Given the description of an element on the screen output the (x, y) to click on. 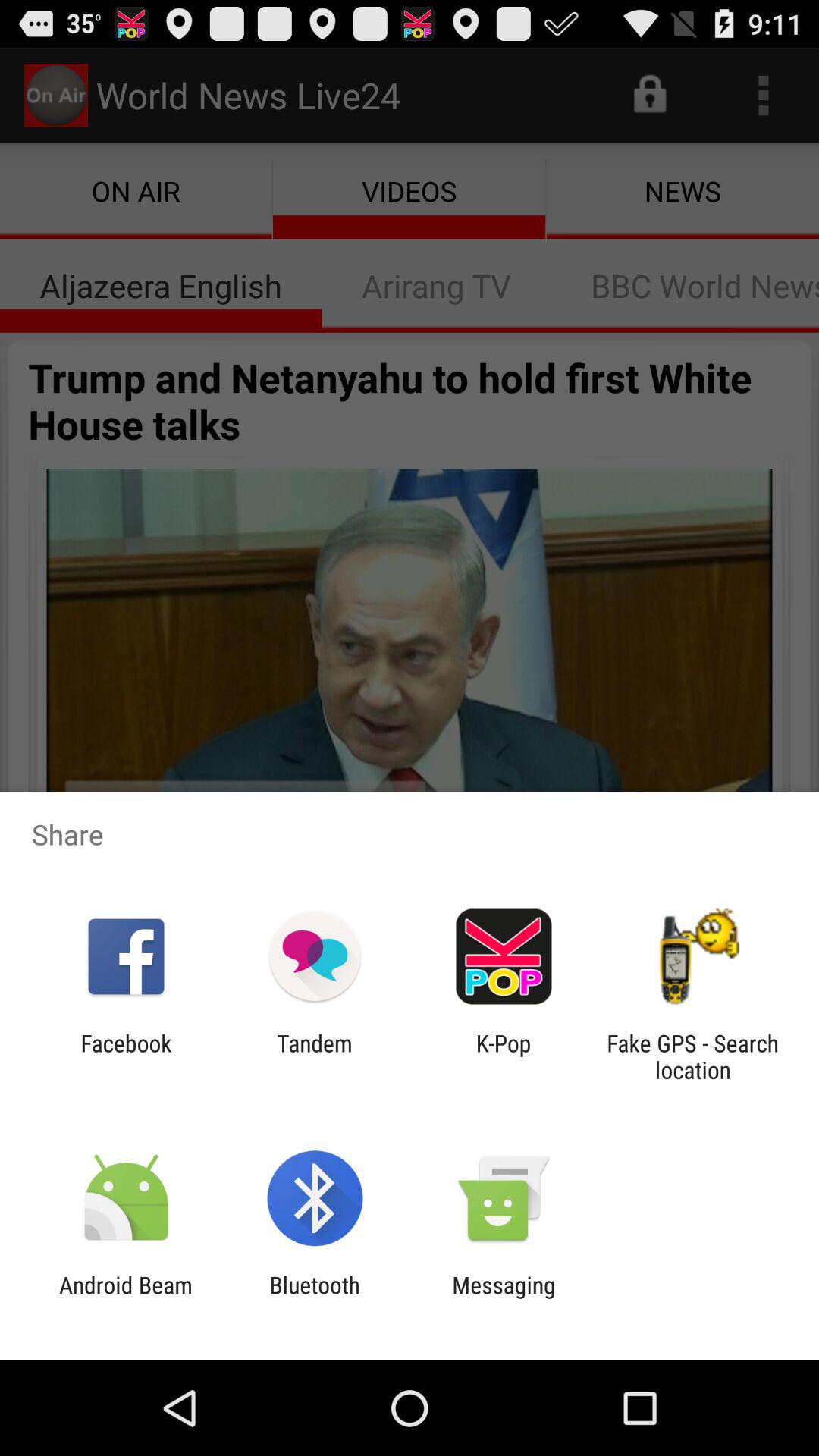
turn off fake gps search item (692, 1056)
